Given the description of an element on the screen output the (x, y) to click on. 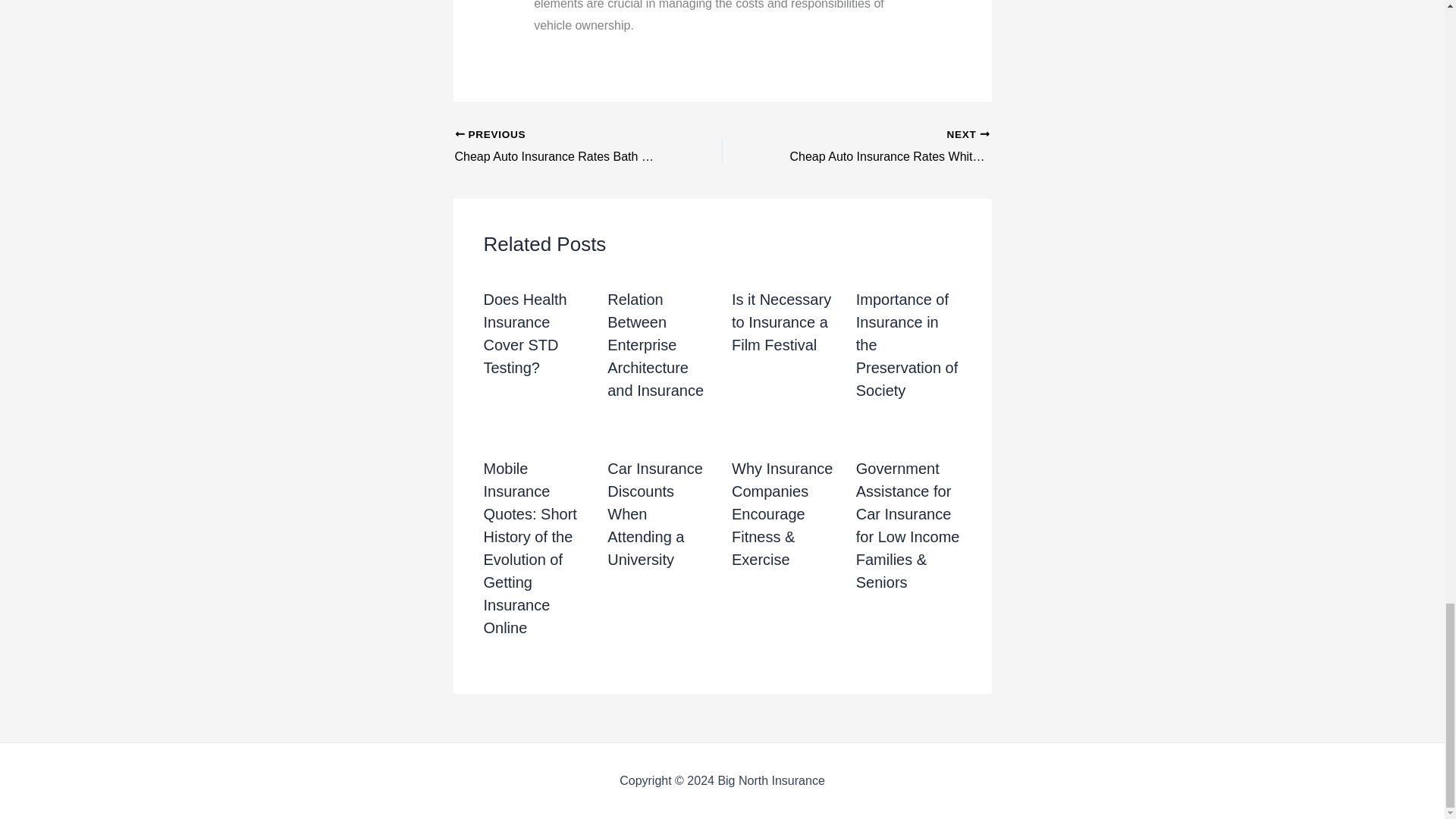
Is it Necessary to Insurance a Film Festival (781, 321)
Relation Between Enterprise Architecture and Insurance (561, 147)
Cheap Auto Insurance Rates Whitehouse TX (655, 344)
Importance of Insurance in the Preservation of Society (882, 147)
Cheap Auto Insurance Rates Bath ME (907, 344)
Does Health Insurance Cover STD Testing? (561, 147)
